Given the description of an element on the screen output the (x, y) to click on. 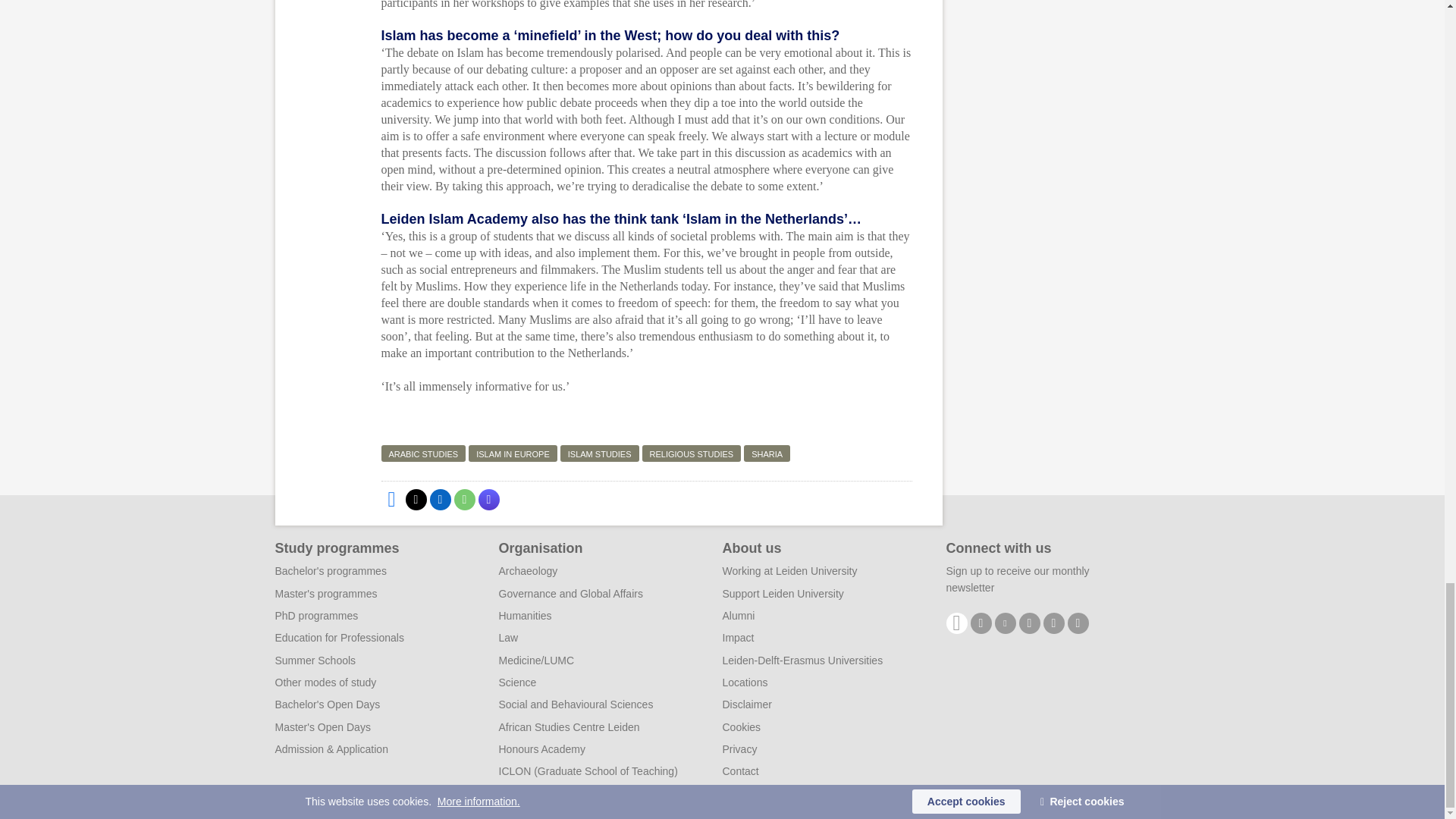
Share on X (415, 499)
ISLAM IN EUROPE (512, 453)
SHARIA (767, 453)
Share on LinkedIn (439, 499)
ISLAM STUDIES (599, 453)
RELIGIOUS STUDIES (691, 453)
Share on Facebook (390, 499)
ARABIC STUDIES (422, 453)
Share by Mastodon (488, 499)
Share by WhatsApp (463, 499)
